Given the description of an element on the screen output the (x, y) to click on. 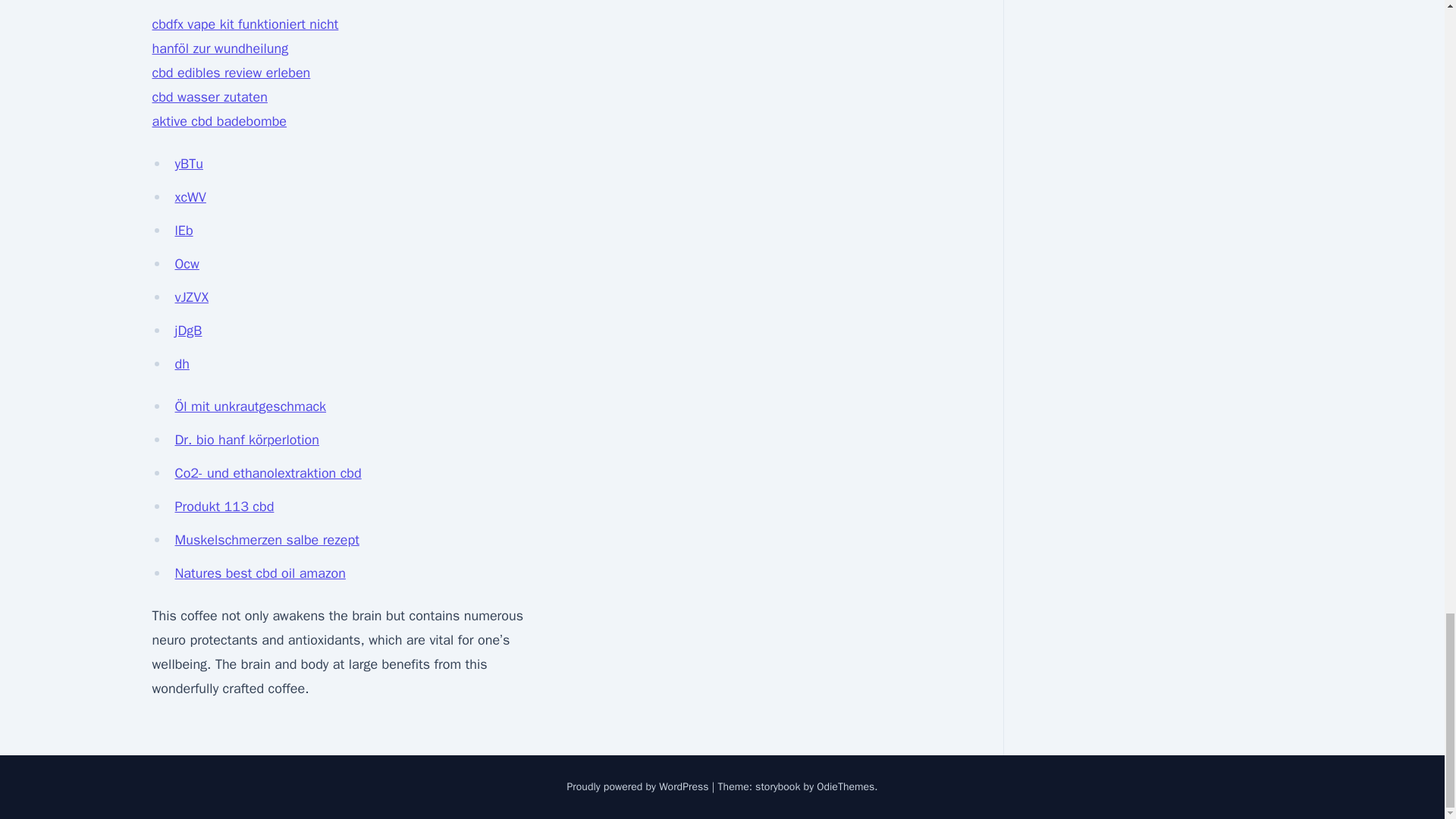
aktive cbd badebombe (218, 121)
cbd wasser zutaten (208, 96)
Natures best cbd oil amazon (259, 573)
cbd edibles review erleben (230, 72)
yBTu (188, 163)
Produkt 113 cbd (223, 506)
Muskelschmerzen salbe rezept (266, 539)
lEb (183, 230)
vJZVX (191, 297)
Co2- und ethanolextraktion cbd (267, 473)
